Given the description of an element on the screen output the (x, y) to click on. 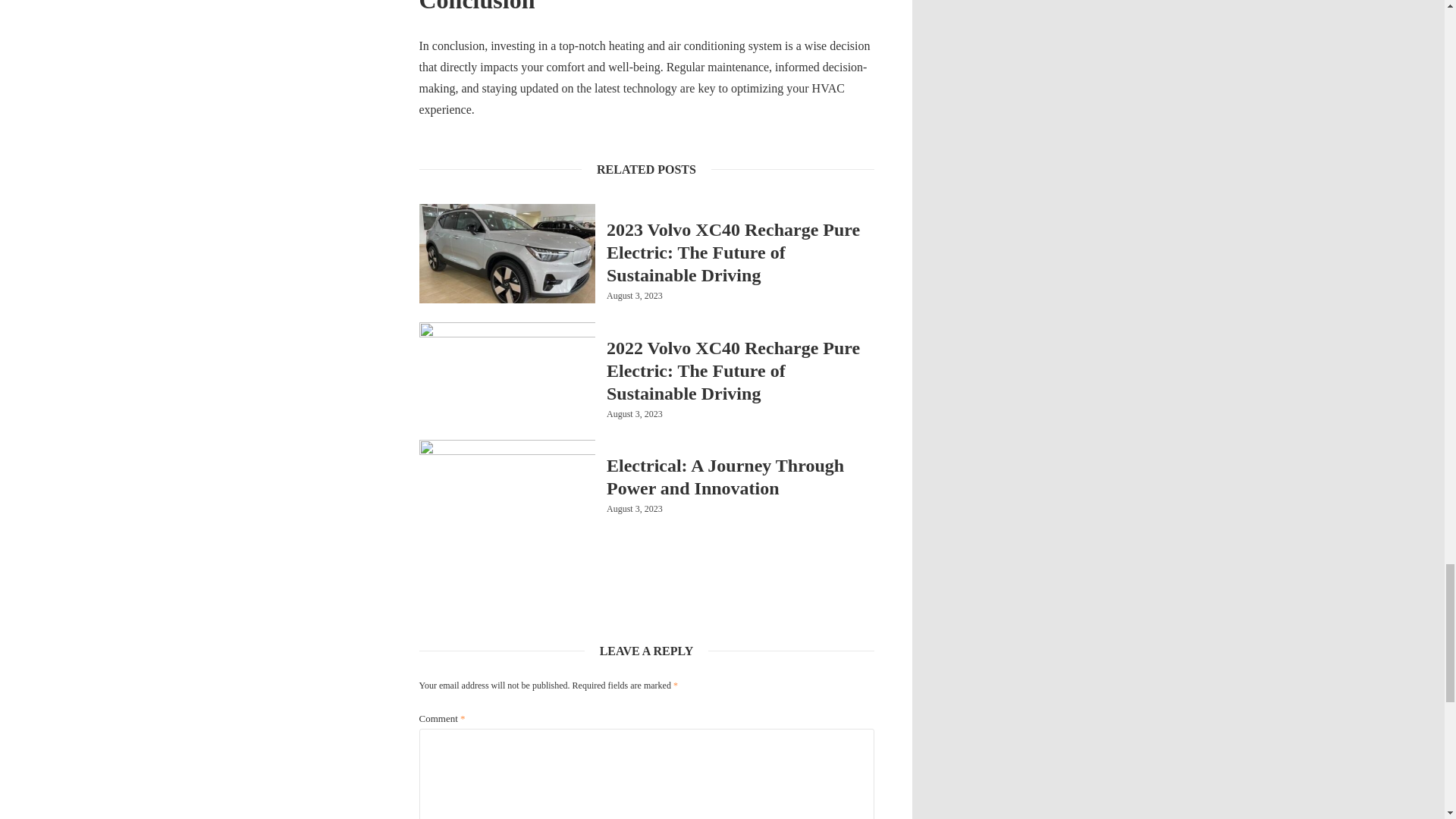
UNCATEGORIZED (642, 326)
UNCATEGORIZED (642, 443)
UNCATEGORIZED (642, 208)
Electrical: A Journey Through Power and Innovation (740, 476)
